Given the description of an element on the screen output the (x, y) to click on. 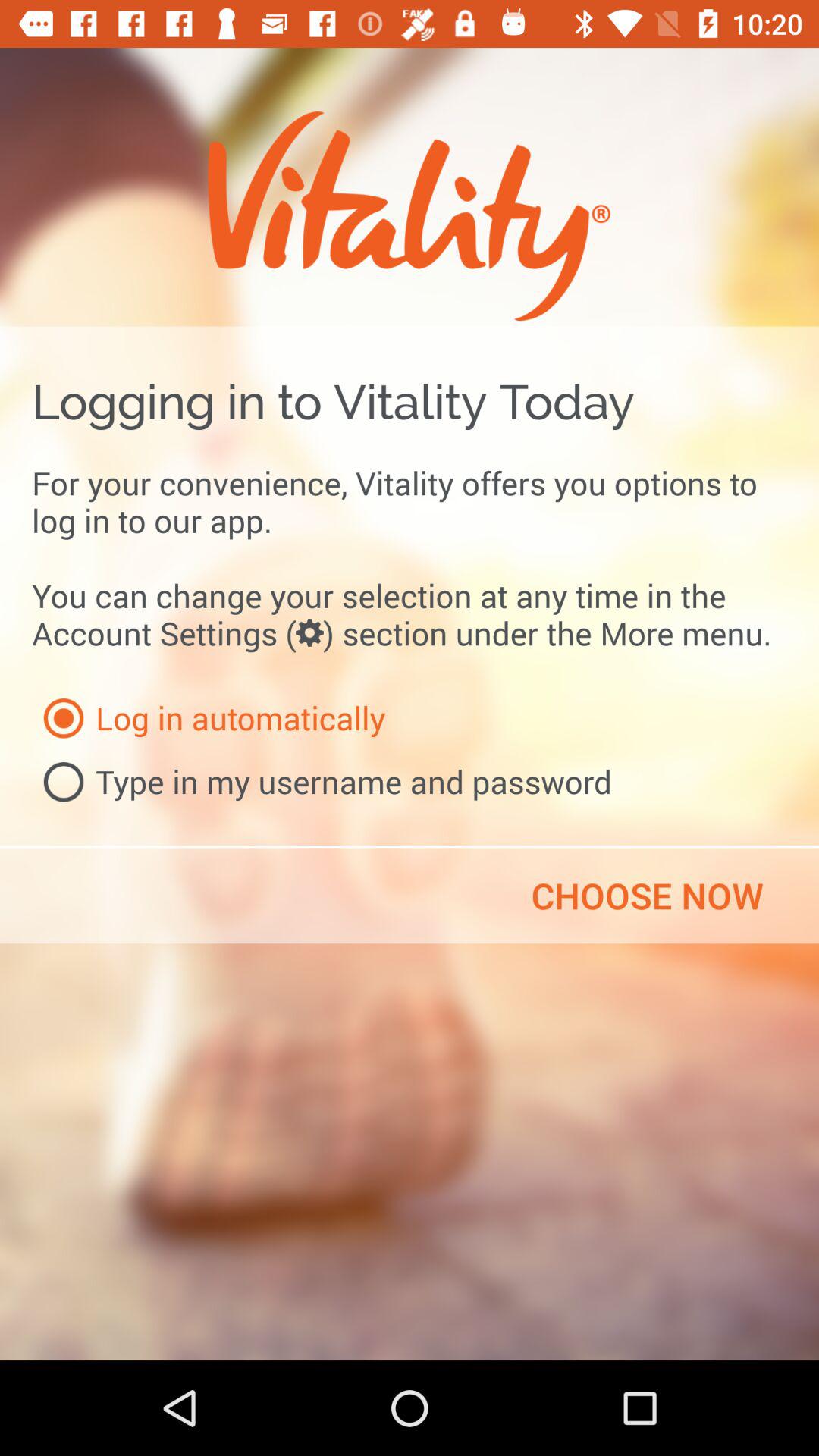
swipe to the type in my icon (321, 781)
